Given the description of an element on the screen output the (x, y) to click on. 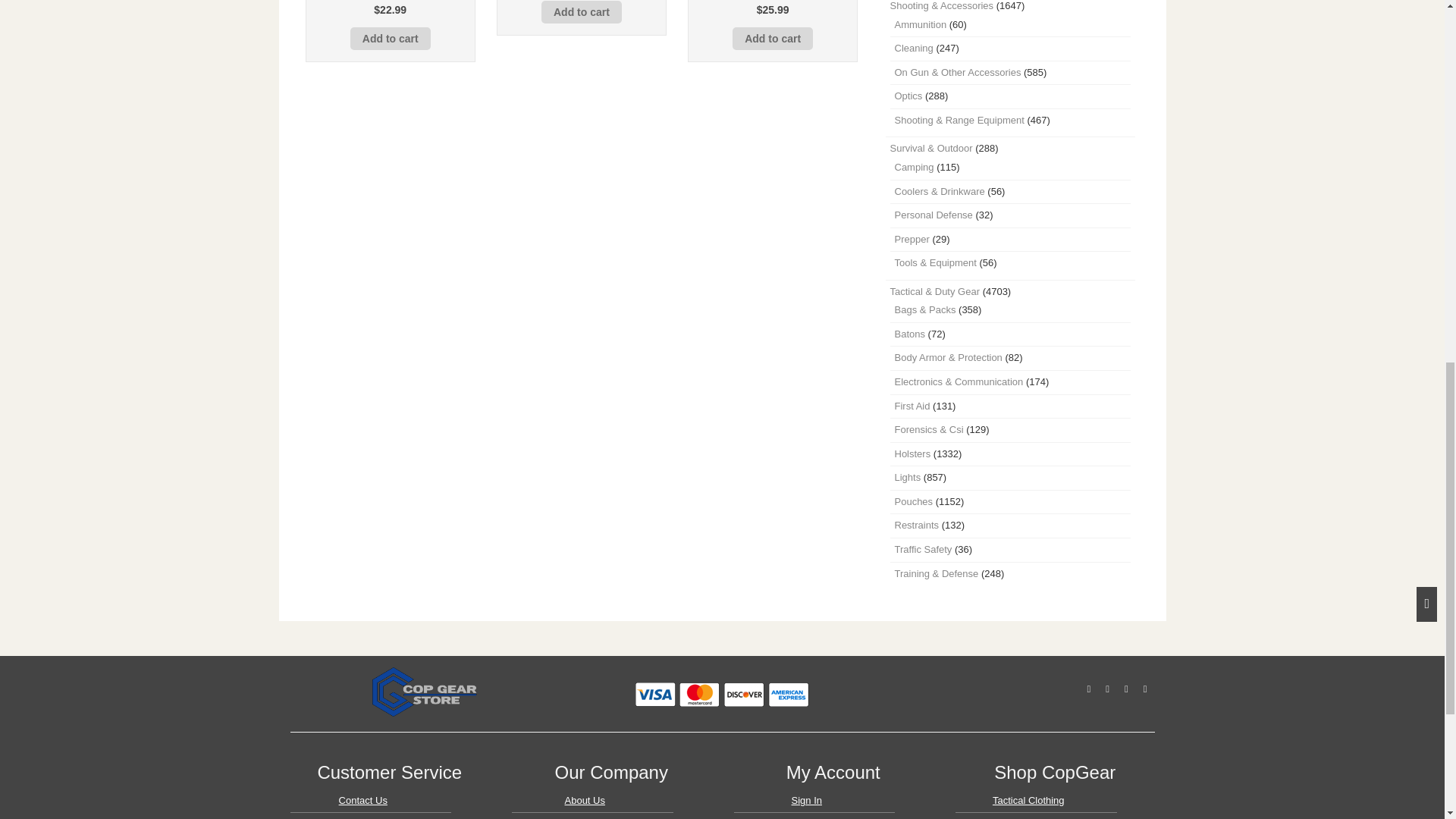
Add to cart (390, 38)
